Given the description of an element on the screen output the (x, y) to click on. 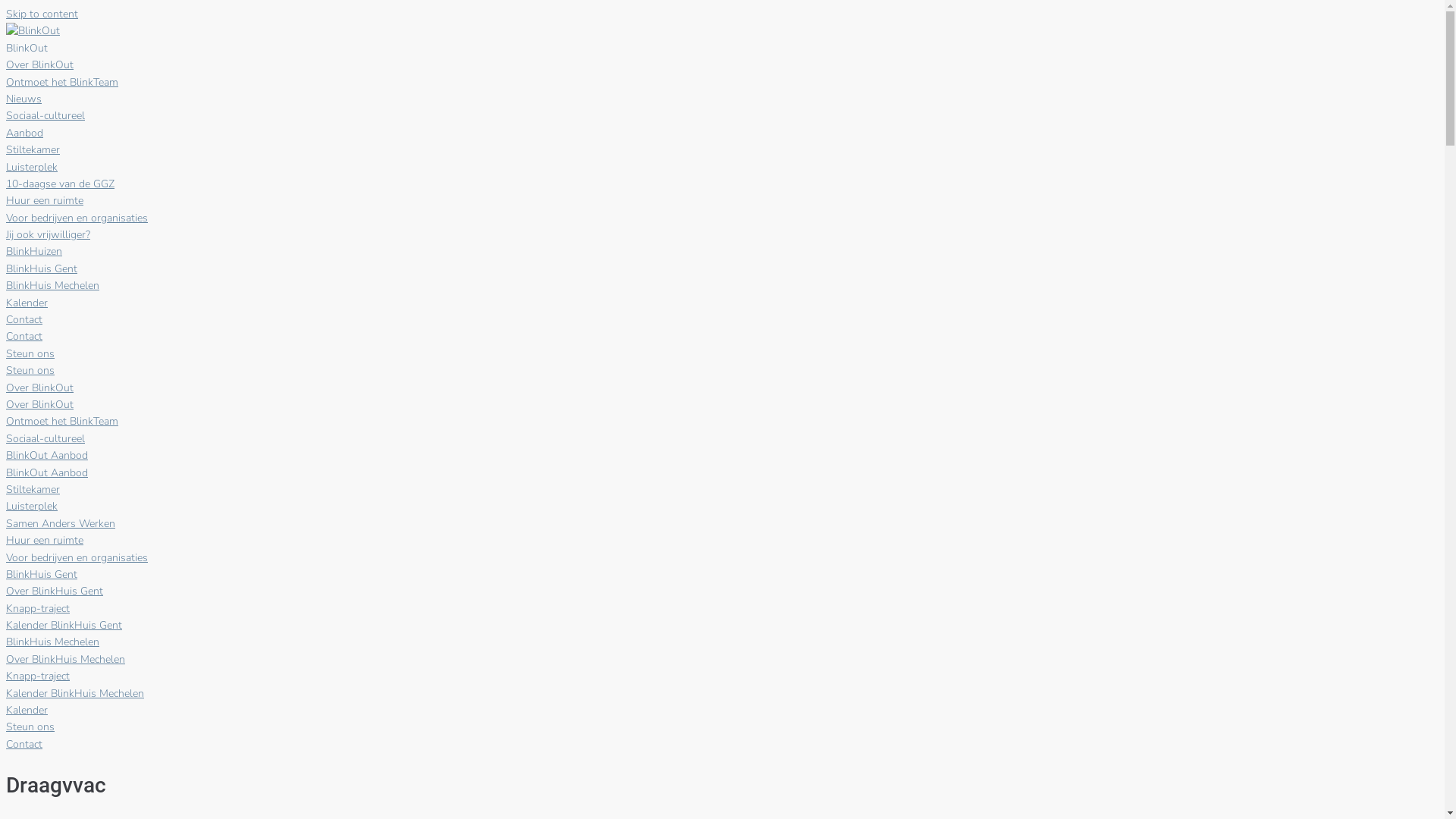
Nieuws Element type: text (23, 98)
BlinkHuis Mechelen Element type: text (722, 642)
10-daagse van de GGZ Element type: text (60, 183)
Luisterplek Element type: text (31, 167)
Contact
Contact Element type: text (722, 328)
Aanbod Element type: text (722, 133)
BlinkOut Element type: text (722, 48)
Stiltekamer Element type: text (32, 149)
BlinkHuizen Element type: text (722, 252)
Kalender BlinkHuis Gent Element type: text (64, 625)
Knapp-traject Element type: text (37, 608)
Steun ons
Steun ons Element type: text (722, 362)
Huur een ruimte Element type: text (44, 200)
Over BlinkHuis Mechelen Element type: text (65, 659)
Ontmoet het BlinkTeam Element type: text (62, 421)
Over BlinkOut Element type: text (722, 388)
Kalender BlinkHuis Mechelen Element type: text (75, 693)
BlinkHuis Gent Element type: text (41, 268)
Steun ons Element type: text (30, 726)
Voor bedrijven en organisaties Element type: text (76, 557)
Kalender Element type: text (26, 302)
Luisterplek Element type: text (31, 505)
BlinkHuis Gent Element type: text (722, 575)
Samen Anders Werken Element type: text (60, 523)
Stiltekamer Element type: text (32, 489)
Jij ook vrijwilliger? Element type: text (48, 234)
Over BlinkHuis Gent Element type: text (54, 590)
Over BlinkOut Element type: text (39, 404)
BlinkOut Aanbod Element type: text (46, 472)
Huur een ruimte Element type: text (44, 540)
Sociaal-cultureel Element type: text (45, 438)
Kalender Element type: text (26, 709)
Over BlinkOut Element type: text (39, 64)
Sociaal-cultureel Element type: text (45, 115)
BlinkOut Aanbod Element type: text (722, 456)
Contact Element type: text (24, 744)
BlinkHuis Mechelen Element type: text (52, 285)
Ontmoet het BlinkTeam Element type: text (62, 82)
Skip to content Element type: text (42, 13)
Voor bedrijven en organisaties Element type: text (76, 217)
Knapp-traject Element type: text (37, 675)
